Given the description of an element on the screen output the (x, y) to click on. 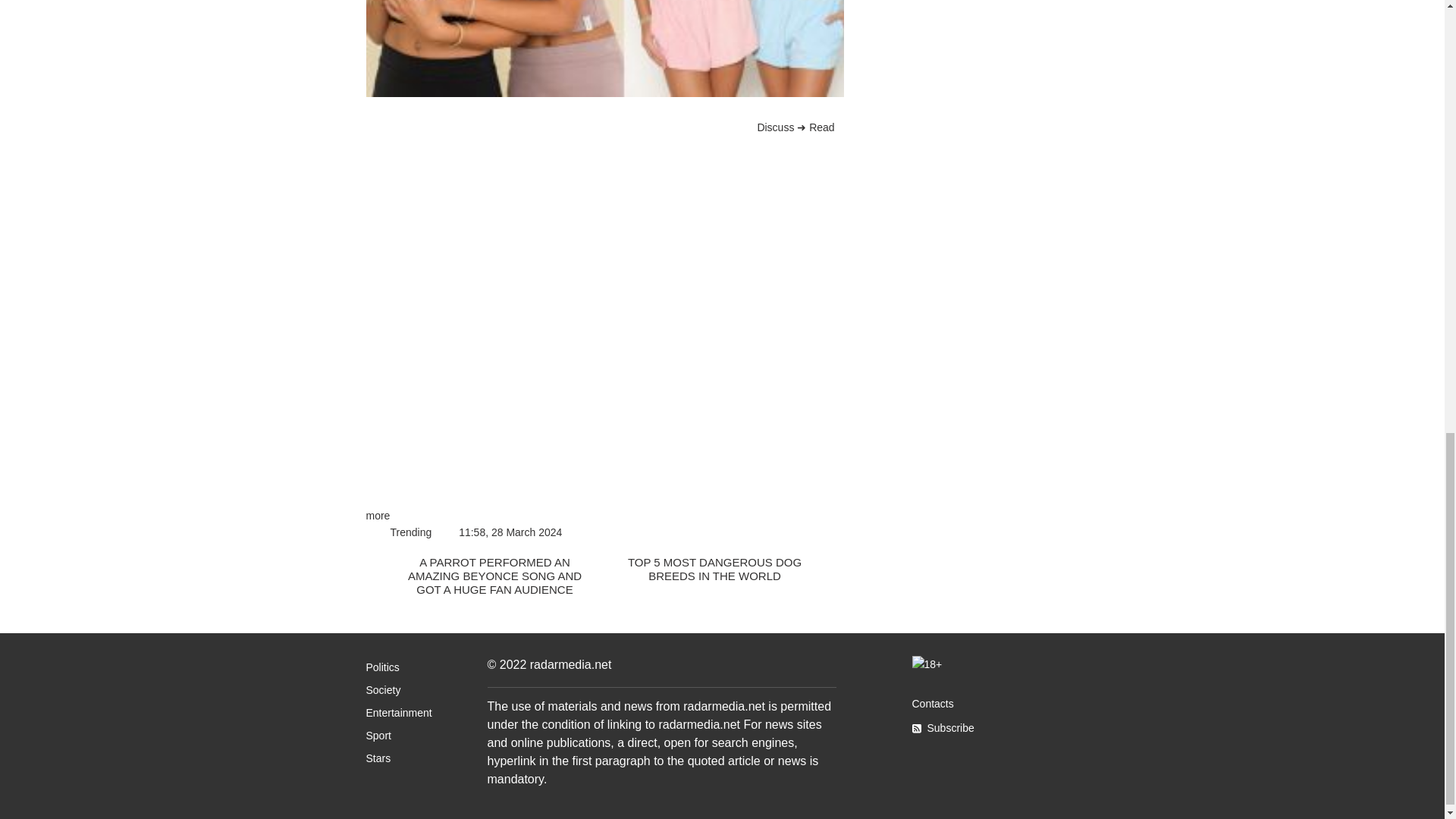
Subscribe (994, 727)
Contacts (932, 703)
Sport (377, 735)
Society (382, 689)
TOP 5 MOST DANGEROUS DOG BREEDS IN THE WORLD (725, 568)
Trending (410, 532)
Entertainment (397, 712)
Discuss (580, 127)
Stars (377, 758)
Politics (381, 666)
